Given the description of an element on the screen output the (x, y) to click on. 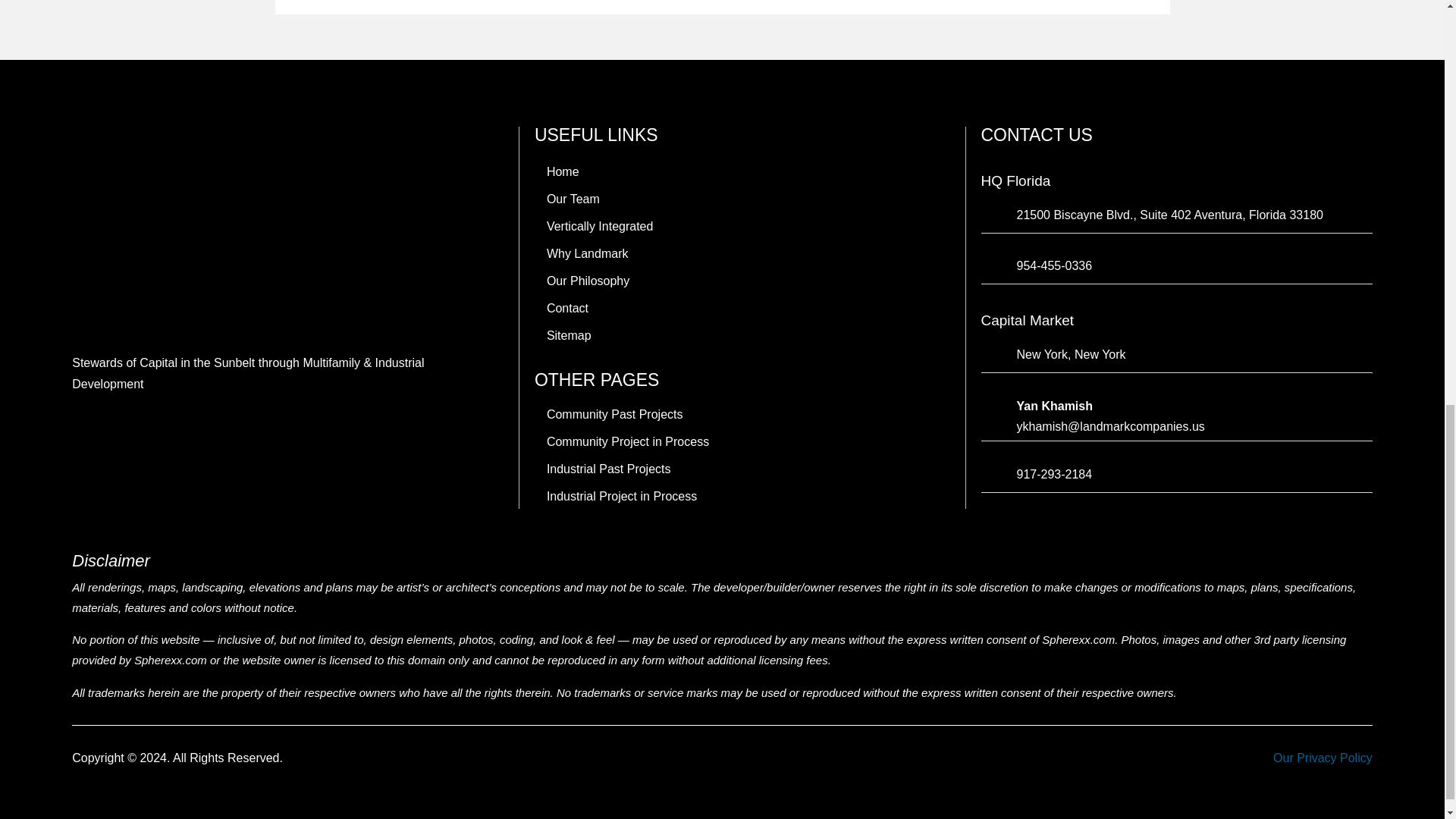
Our Team (572, 200)
Contact (566, 310)
Sitemap (569, 337)
917-293-2184 (1054, 473)
954-455-0336 (1054, 265)
Industrial Past Projects (608, 470)
Our Philosophy (588, 282)
Vertically Integrated (599, 228)
Why Landmark (587, 255)
Our Privacy Policy (1322, 757)
